Given the description of an element on the screen output the (x, y) to click on. 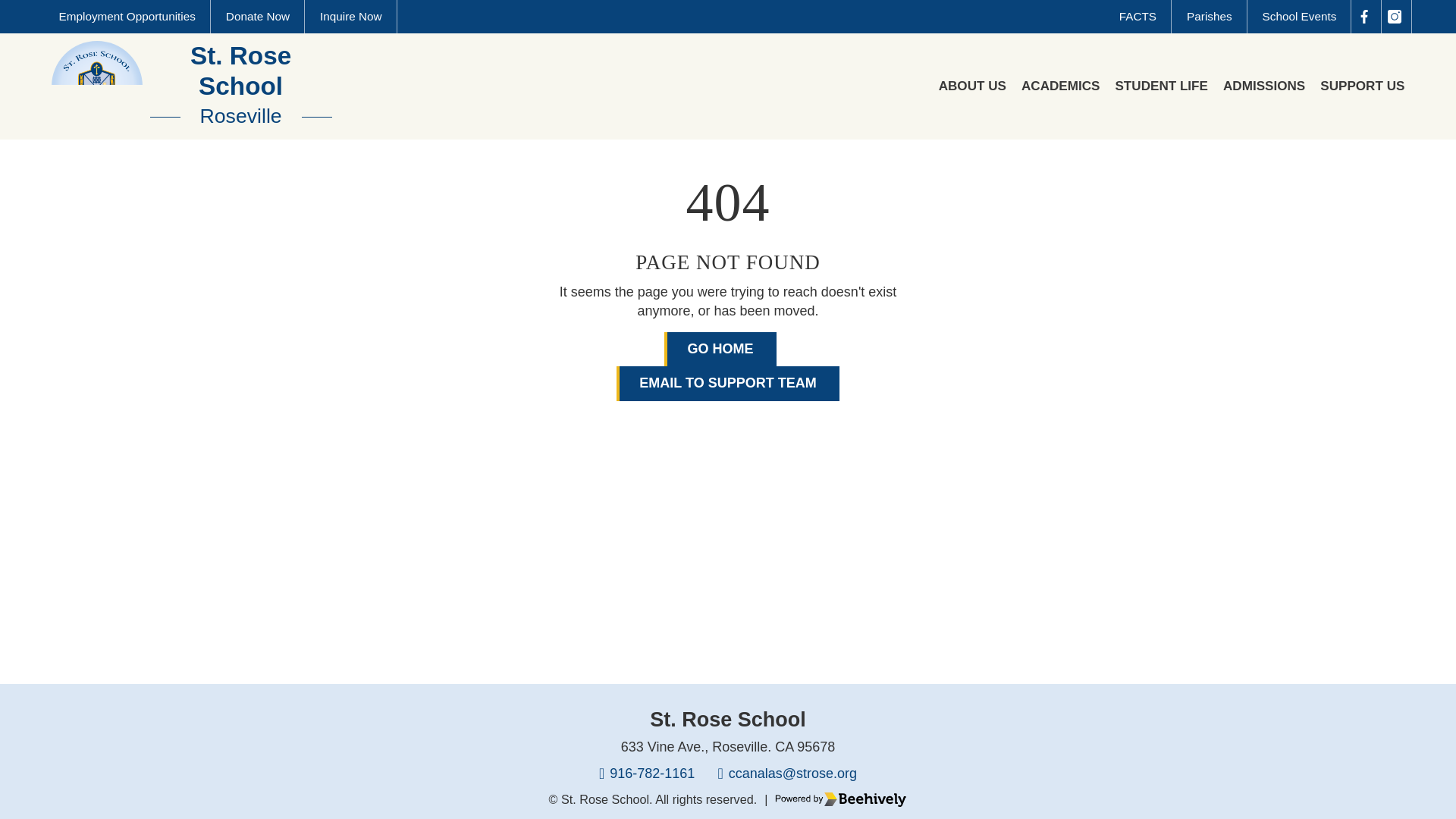
FACTS (1137, 16)
School Events (1299, 16)
ABOUT US (972, 86)
Phone (646, 773)
Email (787, 773)
Parishes (1208, 16)
Poweredby Beehively (187, 86)
ADMISSIONS (840, 799)
STUDENT LIFE (1263, 86)
SUPPORT US (1161, 86)
ACADEMICS (1362, 86)
